Given the description of an element on the screen output the (x, y) to click on. 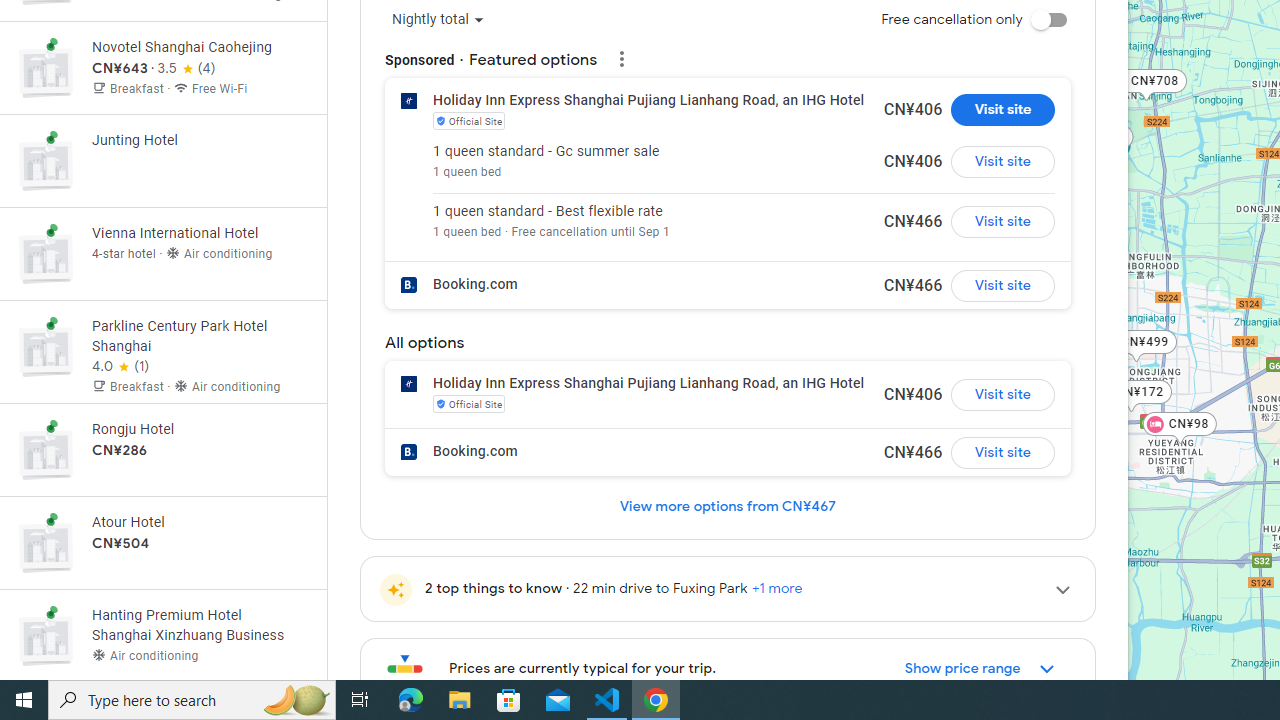
View prices for Novotel Shanghai Caohejing (200, 137)
Price displayedNightly total (438, 20)
View prices for Junting Hotel (200, 230)
View prices for Rongju Hotel (200, 519)
View prices for Atour Hotel (200, 612)
Free cancellation only (1048, 19)
Junting Hotel (163, 161)
View prices for Z Hotel (200, 44)
